Given the description of an element on the screen output the (x, y) to click on. 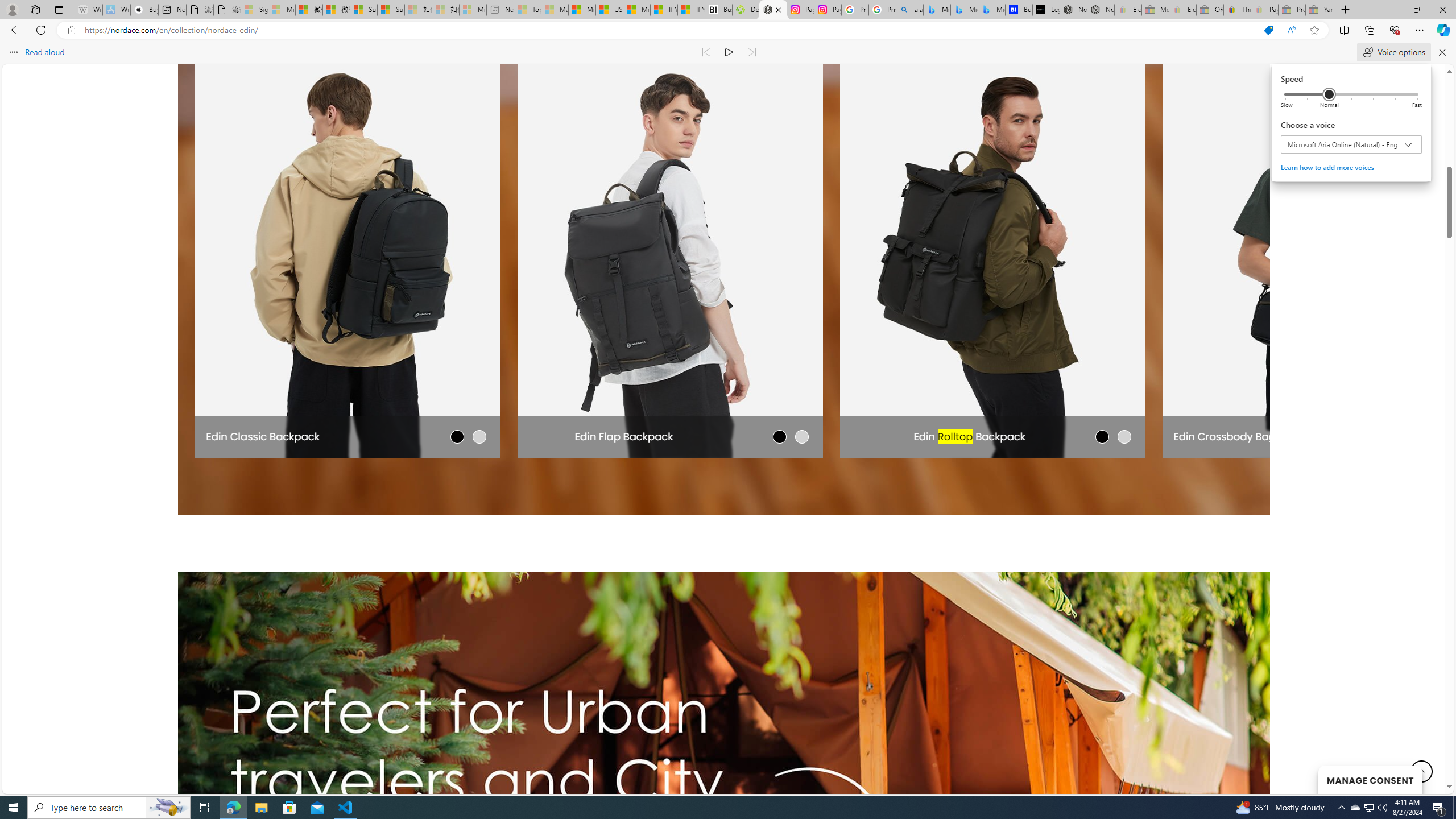
Marine life - MSN - Sleeping (554, 9)
Close read aloud (1291, 29)
Microsoft Store (289, 807)
Running applications (717, 807)
Sign in to your Microsoft account - Sleeping (254, 9)
Type here to search (108, 807)
